Given the description of an element on the screen output the (x, y) to click on. 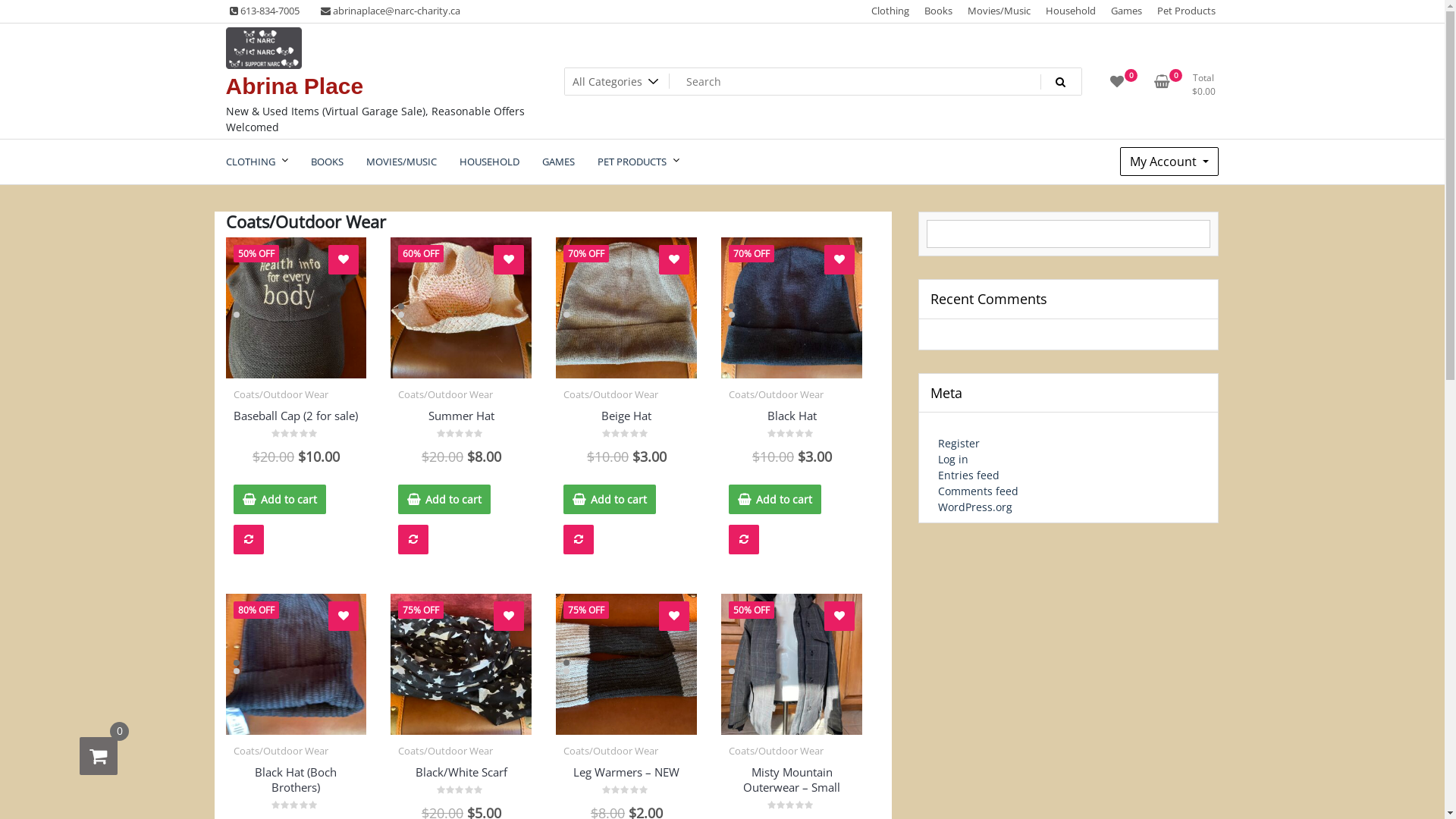
WordPress.org Element type: text (975, 506)
Coats/Outdoor Wear Element type: text (775, 750)
CLOTHING Element type: text (255, 161)
MOVIES/MUSIC Element type: text (401, 161)
Clothing Element type: text (890, 11)
Summer Hat
$20.00 $8.00 Element type: text (461, 434)
75% OFF Element type: text (625, 663)
Coats/Outdoor Wear Element type: text (445, 394)
Search for: Element type: hover (822, 81)
Baseball Cap (2 for sale)
$20.00 $10.00 Element type: text (296, 434)
50% OFF Element type: text (296, 307)
HOUSEHOLD Element type: text (488, 161)
Coats/Outdoor Wear Element type: text (445, 750)
80% OFF Element type: text (296, 663)
Coats/Outdoor Wear Element type: text (280, 750)
Register Element type: text (958, 443)
75% OFF Element type: text (460, 663)
0
Total
$0.00 Element type: text (1188, 86)
Add to cart Element type: text (279, 499)
abrinaplace@narc-charity.ca Element type: text (390, 11)
Household Element type: text (1070, 11)
70% OFF Element type: text (791, 307)
Entries feed Element type: text (968, 474)
My Account Element type: text (1169, 161)
0 Element type: text (1116, 86)
50% OFF Element type: text (791, 663)
Add to cart Element type: text (609, 499)
BOOKS Element type: text (326, 161)
Comments feed Element type: text (978, 490)
Pet Products Element type: text (1185, 11)
Coats/Outdoor Wear Element type: text (775, 394)
Coats/Outdoor Wear Element type: text (610, 750)
60% OFF Element type: text (460, 307)
0 Element type: text (98, 756)
Add to cart Element type: text (774, 499)
70% OFF Element type: text (625, 307)
Beige Hat
$10.00 $3.00 Element type: text (626, 434)
Games Element type: text (1126, 11)
Movies/Music Element type: text (998, 11)
Log in Element type: text (953, 458)
Books Element type: text (938, 11)
Coats/Outdoor Wear Element type: text (280, 394)
613-834-7005 Element type: text (264, 11)
Coats/Outdoor Wear Element type: text (610, 394)
Abrina Place Element type: text (294, 84)
PET PRODUCTS Element type: text (637, 161)
Black Hat
$10.00 $3.00 Element type: text (791, 434)
Add to cart Element type: text (444, 499)
GAMES Element type: text (558, 161)
